Given the description of an element on the screen output the (x, y) to click on. 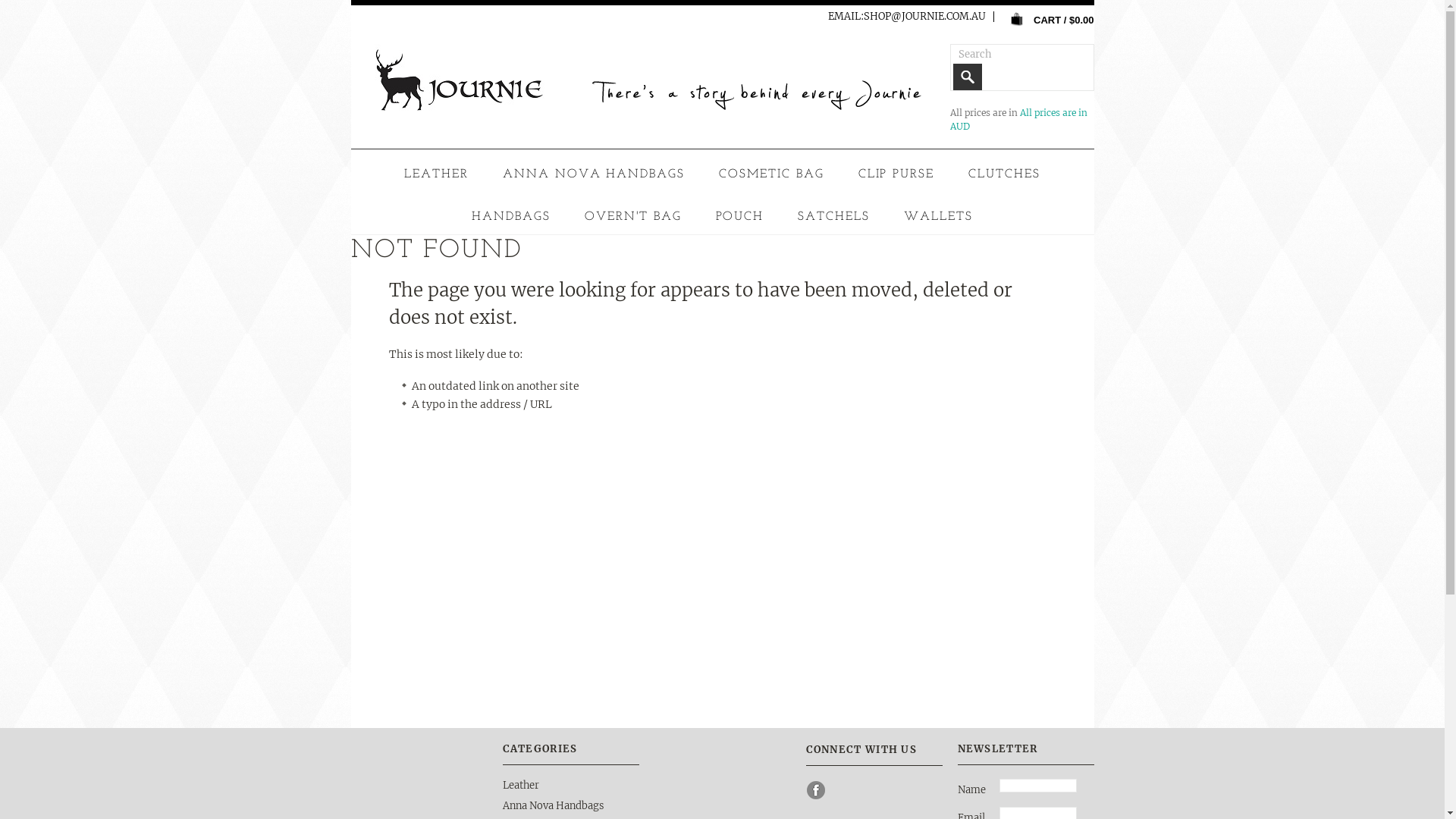
LEATHER Element type: text (436, 174)
ANNA NOVA HANDBAGS Element type: text (593, 174)
WALLETS Element type: text (938, 216)
Facebook Element type: text (815, 789)
CLIP PURSE Element type: text (896, 174)
COSMETIC BAG Element type: text (771, 174)
CLUTCHES Element type: text (1004, 174)
Anna Nova Handbags Element type: text (552, 805)
Leather Element type: text (520, 784)
All prices are in AUD Element type: text (1017, 118)
OVERN'T BAG Element type: text (633, 216)
POUCH Element type: text (739, 216)
SATCHELS Element type: text (833, 216)
 CART / $0.00 Element type: text (1047, 18)
Search Element type: hover (966, 76)
HANDBAGS Element type: text (511, 216)
Instagram Element type: text (841, 789)
View Cart Element type: hover (1016, 18)
